Given the description of an element on the screen output the (x, y) to click on. 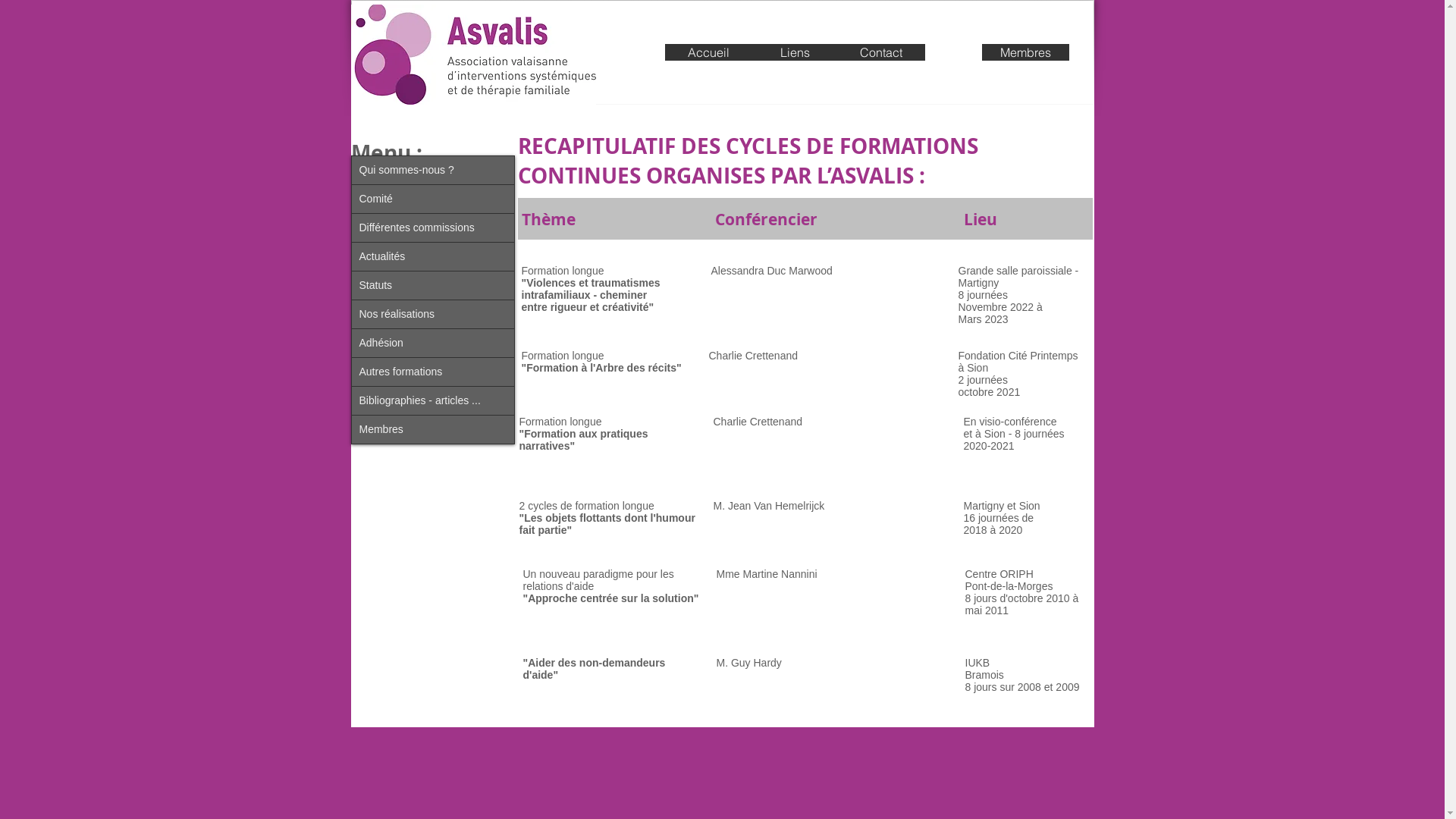
Liens Element type: text (793, 51)
Statuts Element type: text (432, 285)
Bibliographies - articles ... Element type: text (432, 400)
Contact Element type: text (880, 51)
Membres Element type: text (432, 429)
Accueil Element type: text (707, 51)
Qui sommes-nous ? Element type: text (432, 170)
Membres Element type: text (1024, 51)
Autres formations Element type: text (432, 371)
